Given the description of an element on the screen output the (x, y) to click on. 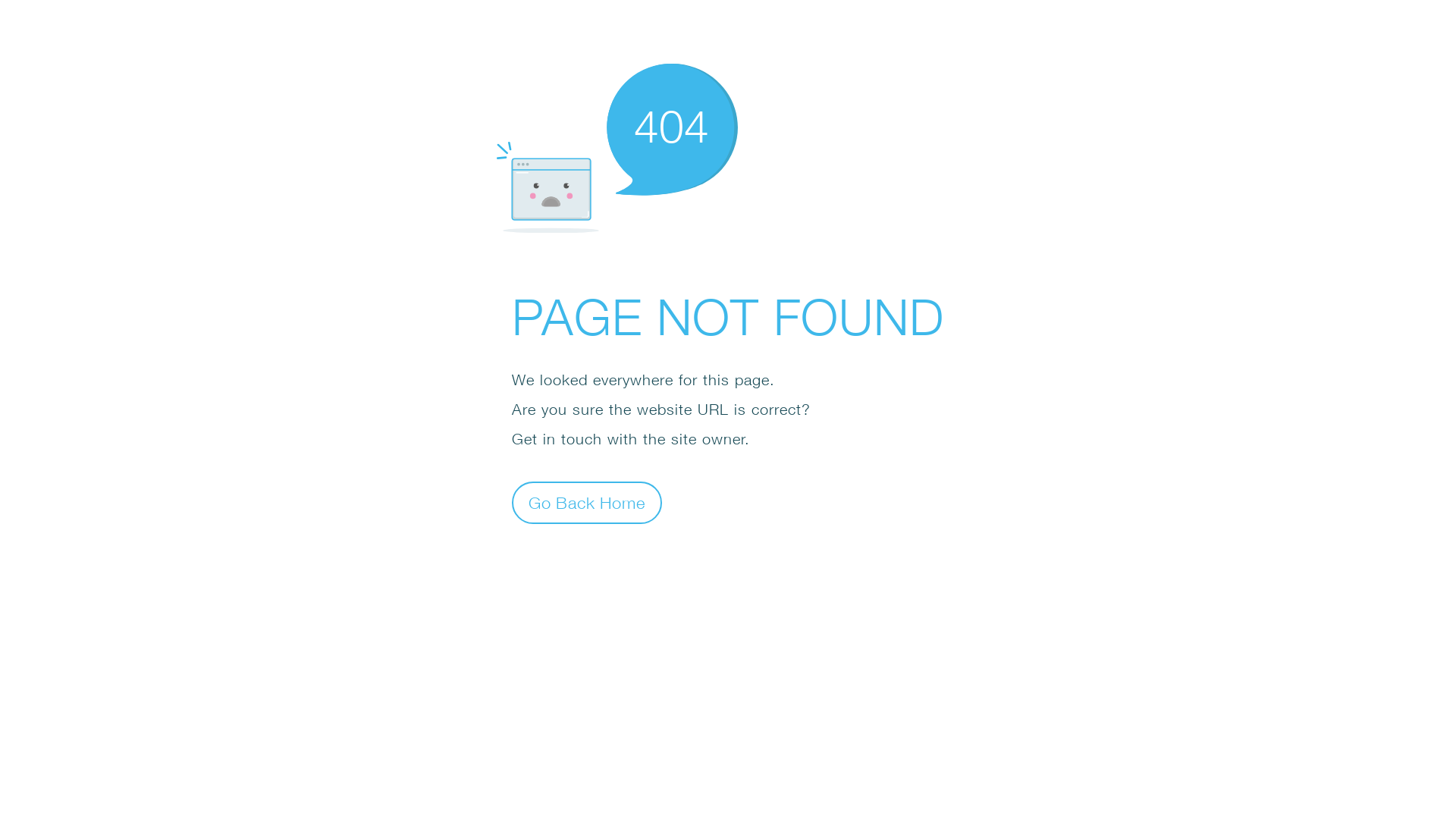
Go Back Home Element type: text (586, 502)
